Given the description of an element on the screen output the (x, y) to click on. 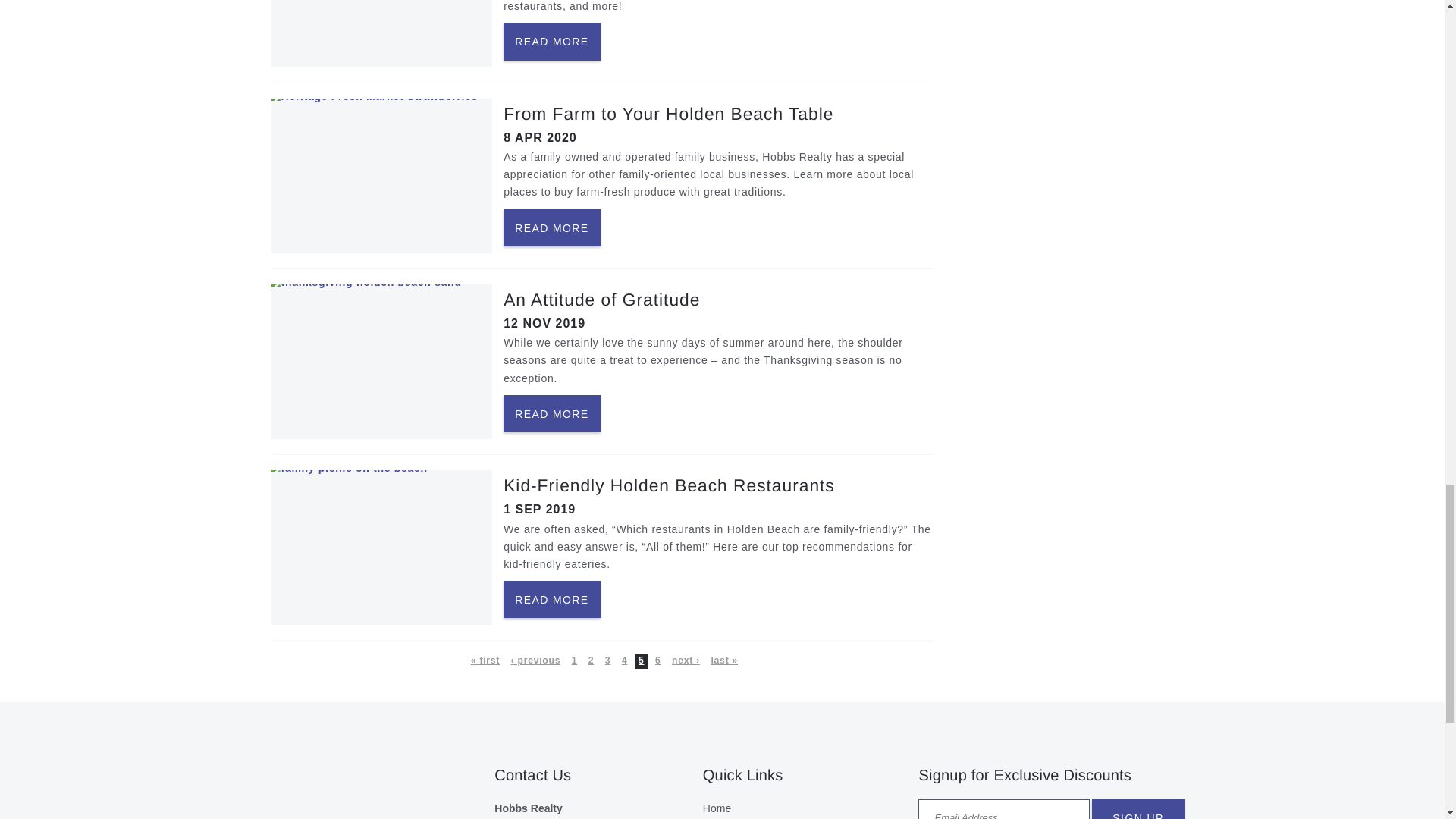
Go to page 4 (624, 660)
Go to next page (686, 660)
Go to previous page (535, 660)
Go to page 6 (657, 660)
Go to last page (723, 660)
Go to page 1 (573, 660)
Go to page 3 (606, 660)
Go to first page (484, 660)
Go to page 2 (589, 660)
